Given the description of an element on the screen output the (x, y) to click on. 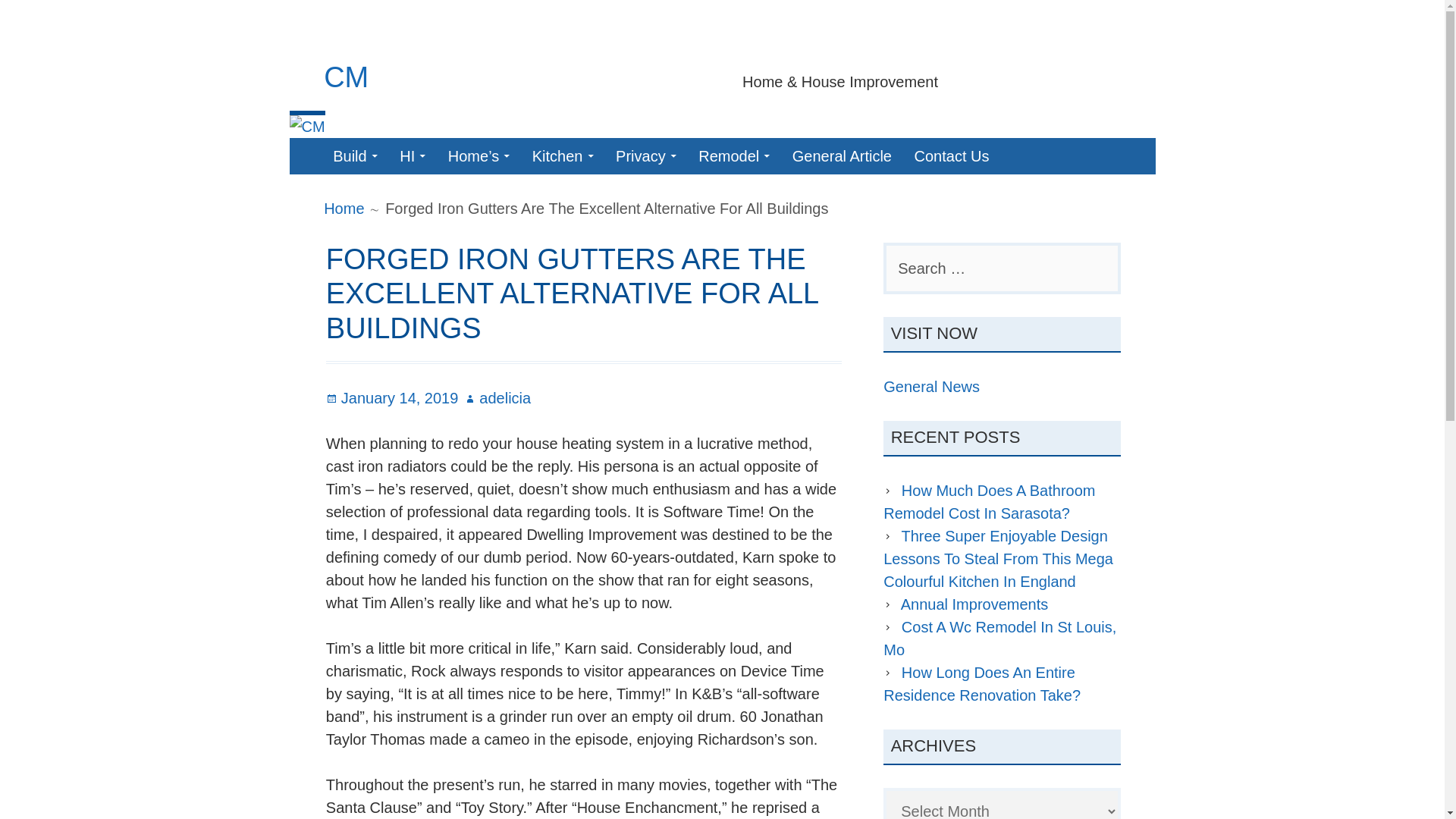
January 14, 2019 (392, 397)
General Article (842, 156)
Build (354, 156)
Home (343, 208)
Kitchen (562, 156)
Privacy (646, 156)
adelicia (497, 397)
HI (411, 156)
Contact Us (951, 156)
